Given the description of an element on the screen output the (x, y) to click on. 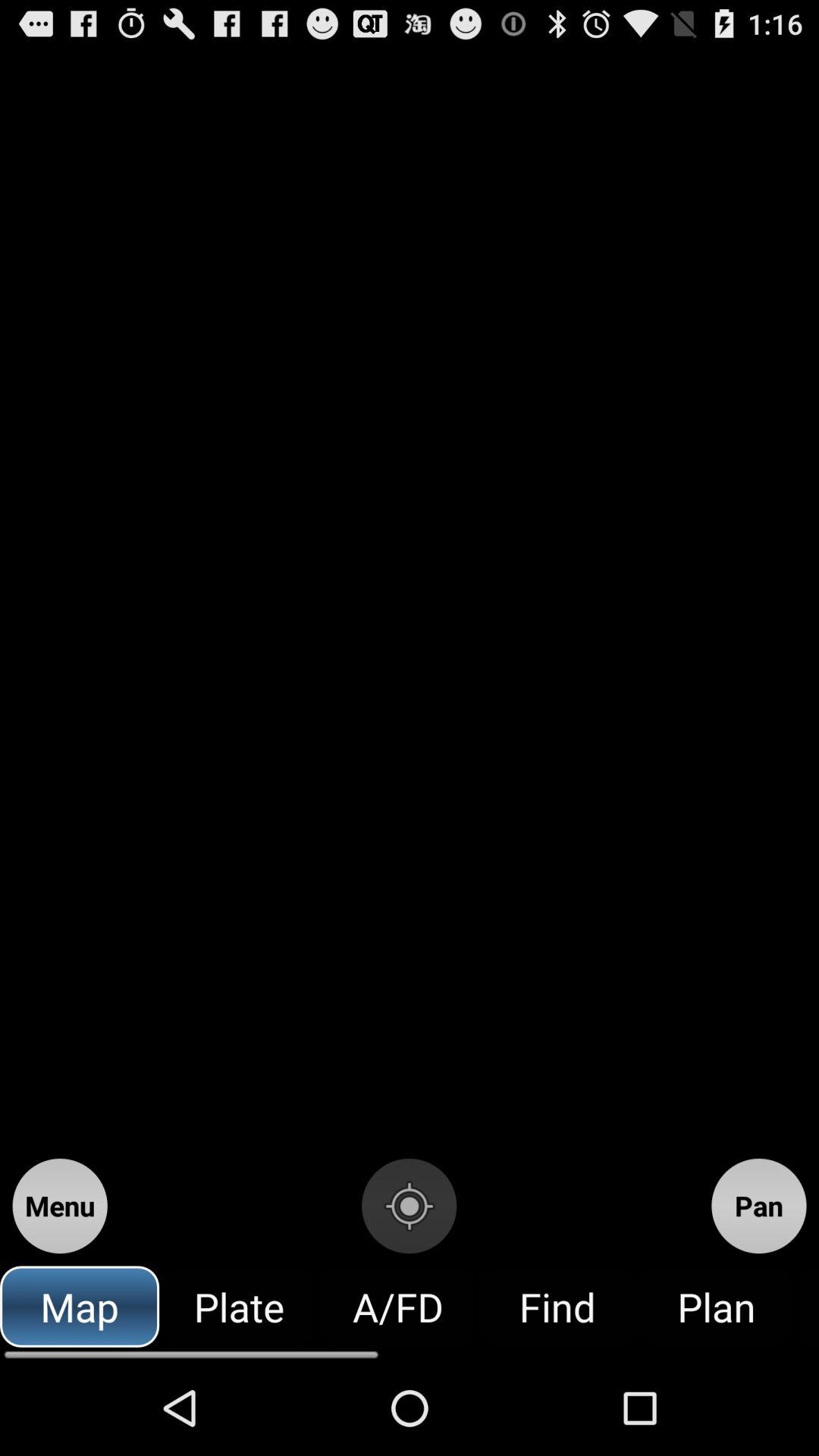
turn off icon next to pan item (408, 1205)
